Given the description of an element on the screen output the (x, y) to click on. 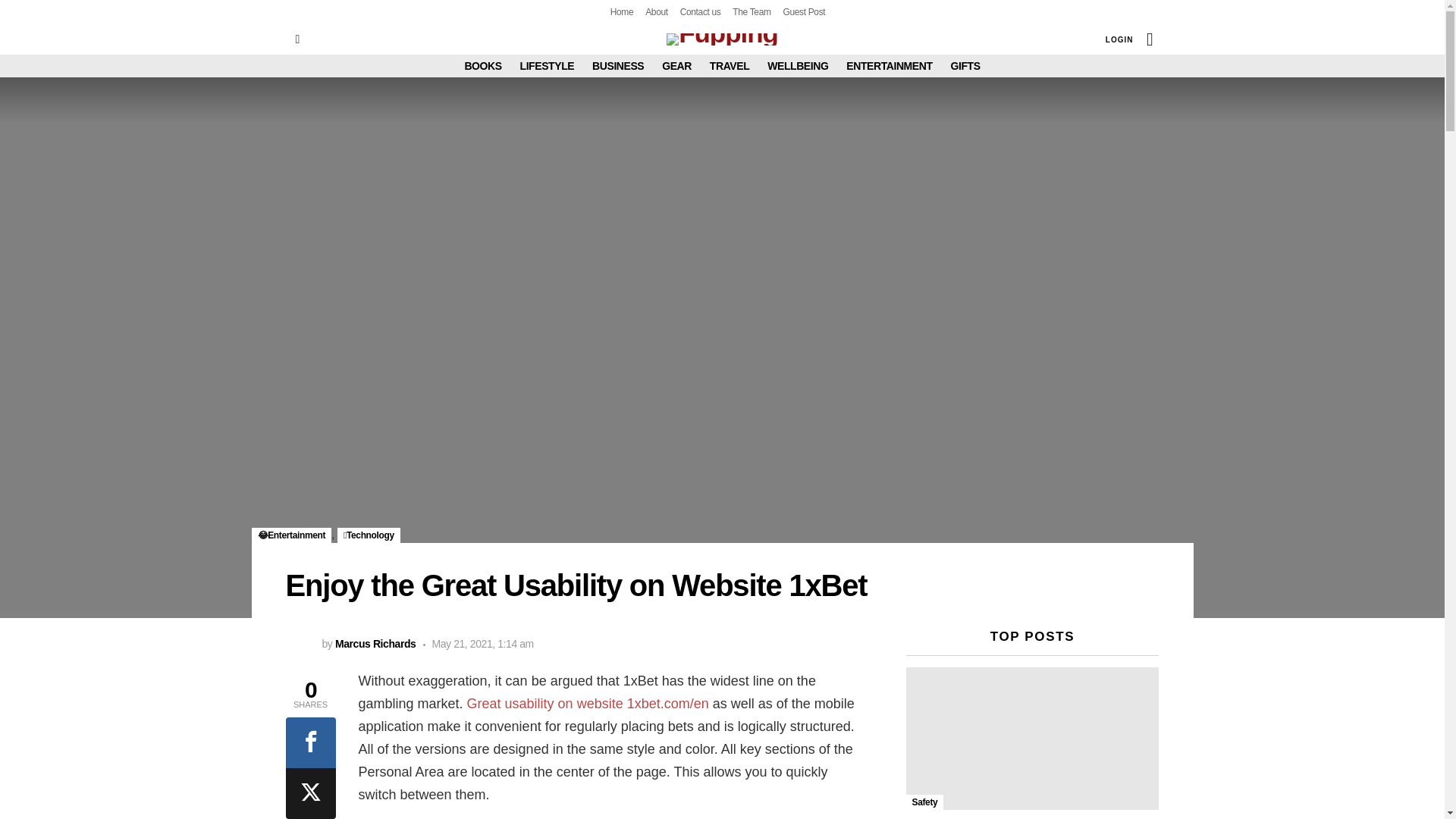
WELLBEING (797, 65)
The Team (751, 12)
TRAVEL (729, 65)
GEAR (675, 65)
LOGIN (1119, 38)
Home (621, 12)
GIFTS (964, 65)
Menu (296, 39)
LIFESTYLE (547, 65)
Guest Post (804, 12)
